Given the description of an element on the screen output the (x, y) to click on. 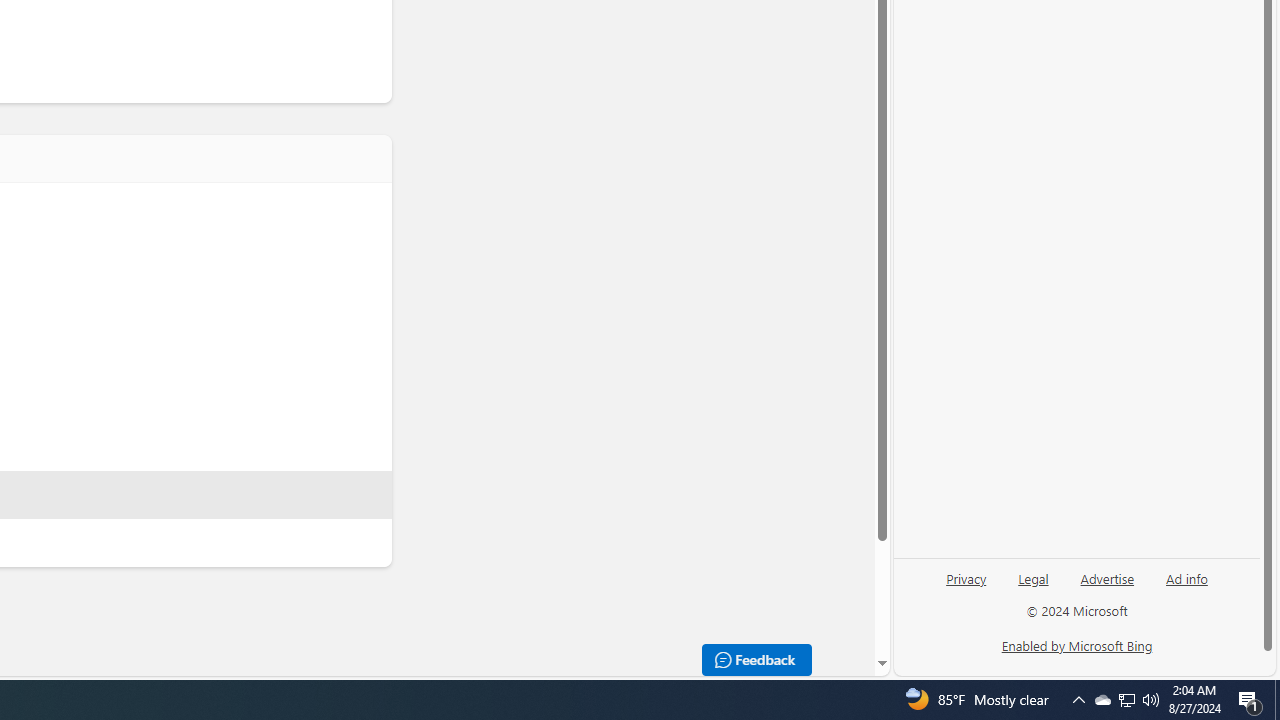
Advertise (1107, 577)
Legal (1033, 577)
Privacy (966, 586)
Ad info (1187, 577)
Privacy (965, 577)
Advertise (1106, 586)
Legal (1033, 586)
Ad info (1186, 586)
